Given the description of an element on the screen output the (x, y) to click on. 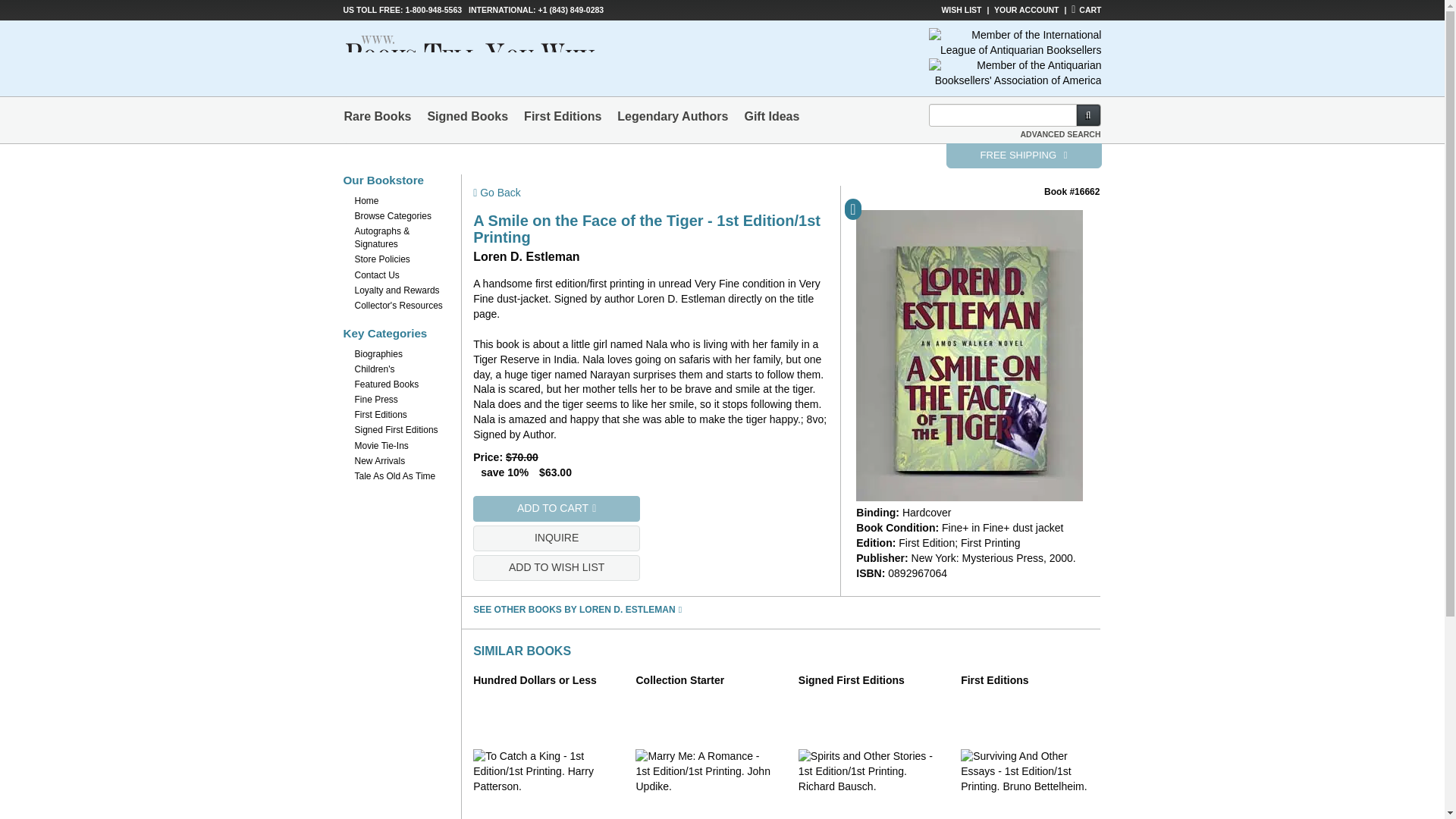
Legendary Authors (672, 116)
Skip to main content (8, 7)
YOUR ACCOUNT (1026, 9)
Books Tell You Why, Inc. (493, 50)
1-800-948-5563 (432, 9)
First Editions (562, 116)
Rare Books (377, 116)
CART (1085, 9)
WISH LIST (960, 9)
Signed Books (467, 116)
